Given the description of an element on the screen output the (x, y) to click on. 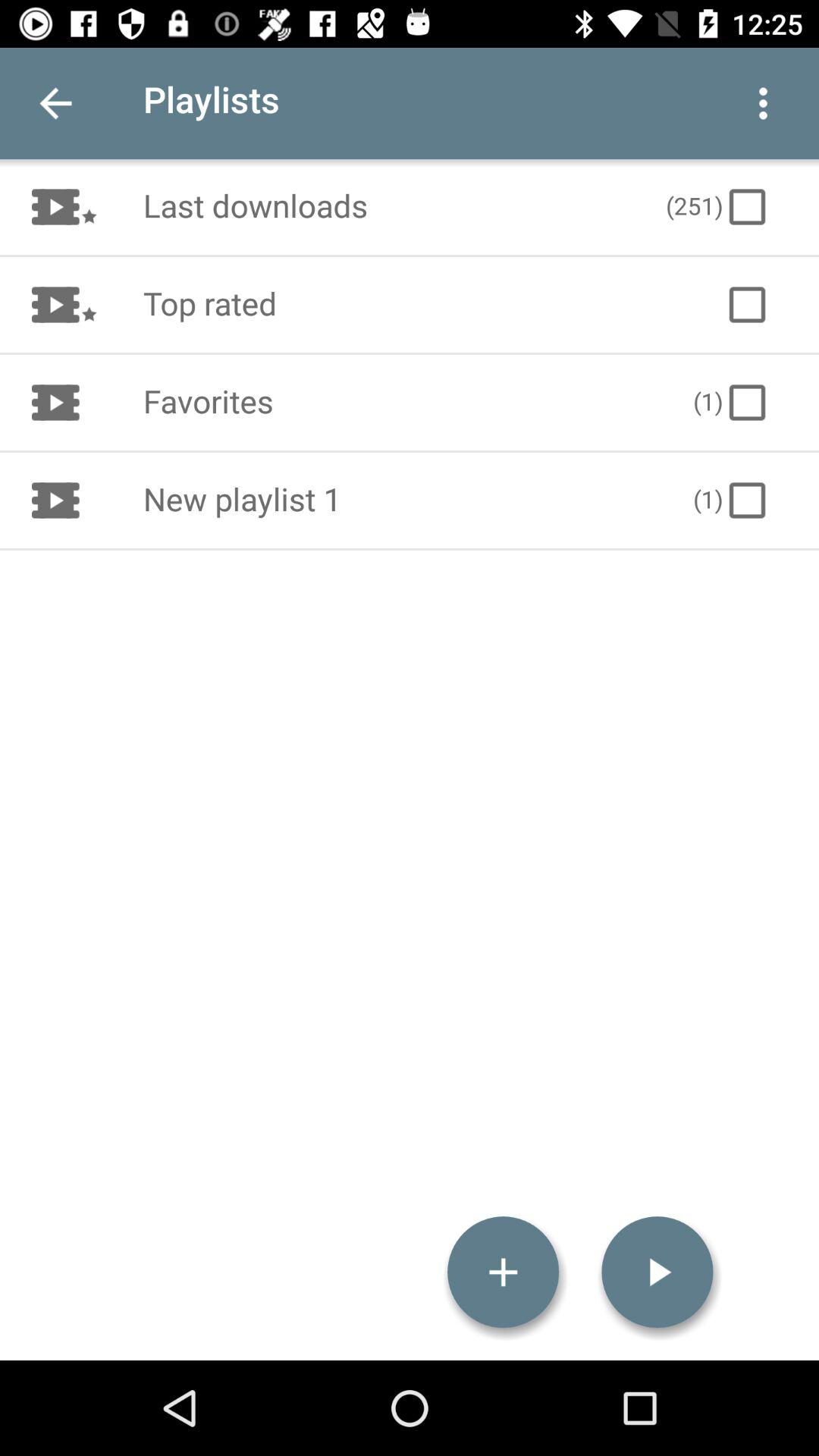
choose the icon to the left of the (251) (388, 206)
